Given the description of an element on the screen output the (x, y) to click on. 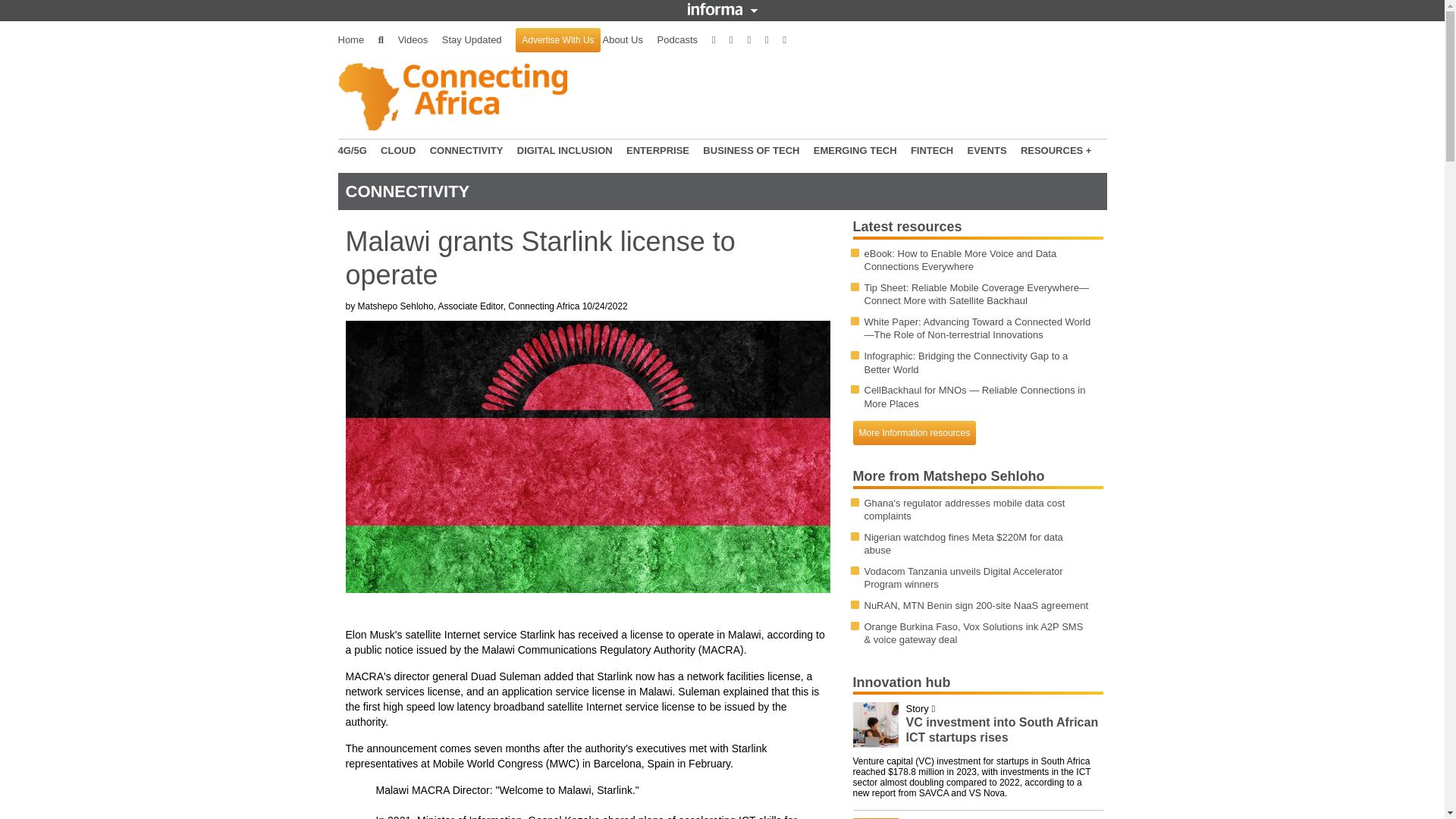
Podcasts (677, 39)
EVENTS (987, 151)
FINTECH (932, 151)
DIGITAL INCLUSION (564, 151)
Stay Updated (472, 39)
EMERGING TECH (854, 151)
Home (351, 39)
About Us (622, 39)
CONNECTIVITY (466, 151)
BUSINESS OF TECH (751, 151)
ENTERPRISE (657, 151)
